Given the description of an element on the screen output the (x, y) to click on. 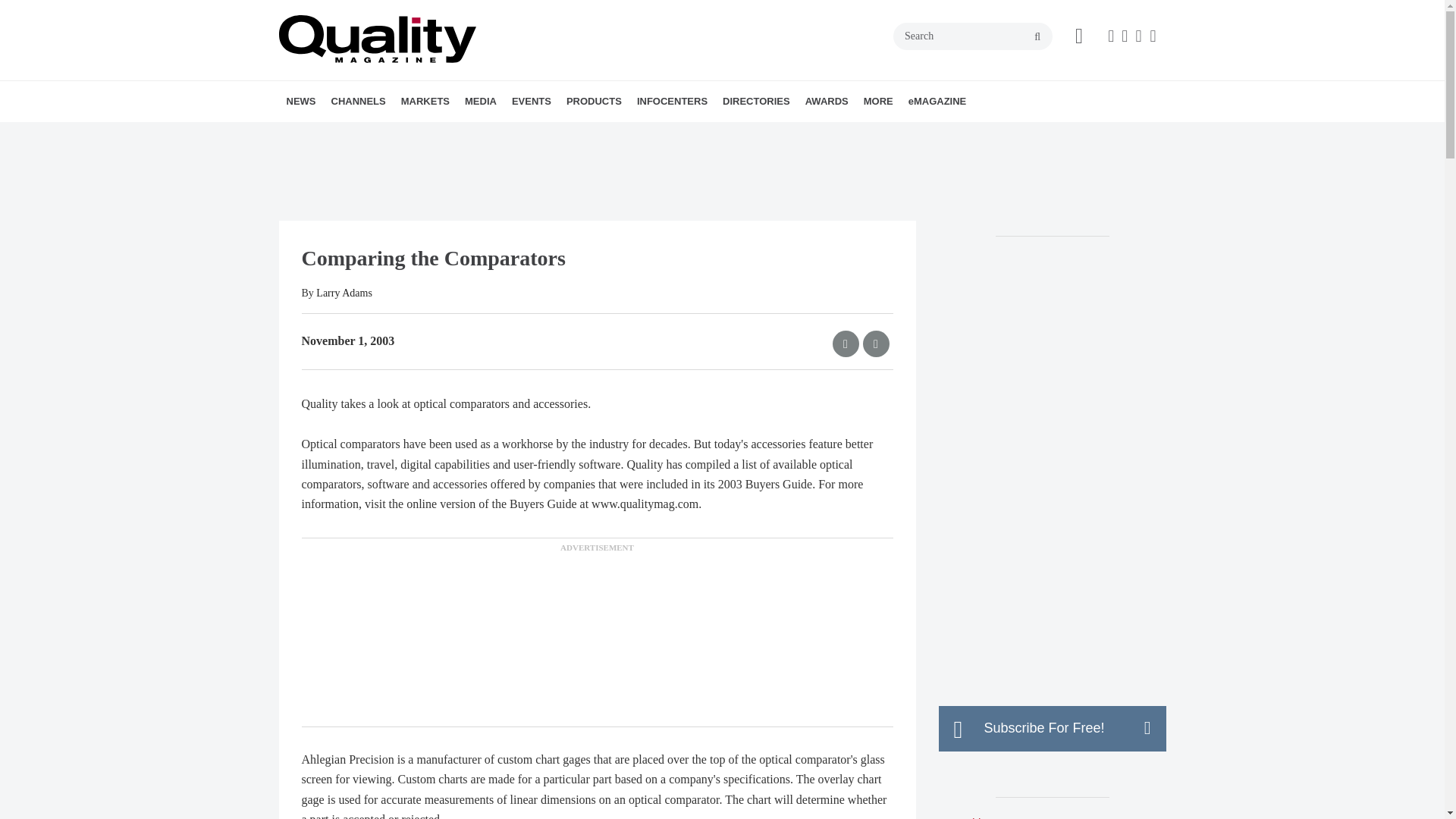
search (1037, 37)
ENERGY (507, 134)
WEBINARS (574, 134)
Search (972, 35)
MANAGEMENT (424, 134)
QUALITY 101 (442, 134)
EVENTS (531, 101)
AEROSPACE (488, 134)
PLASTICS (519, 134)
GREEN MANUFACTURING (511, 134)
